Given the description of an element on the screen output the (x, y) to click on. 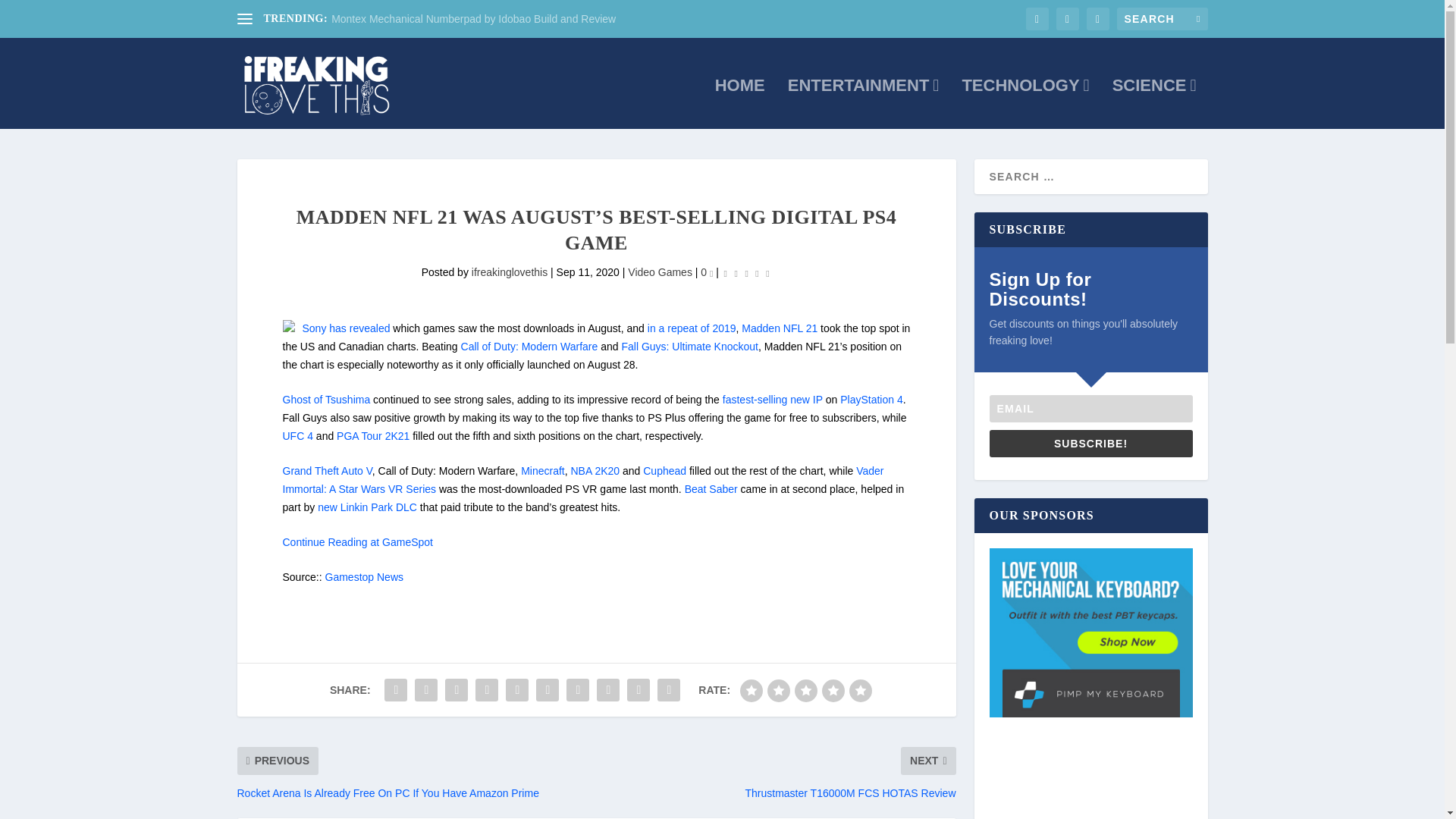
HOME (739, 103)
Search for: (1161, 18)
Montex Mechanical Numberpad by Idobao Build and Review (473, 19)
TECHNOLOGY (1024, 103)
ENTERTAINMENT (863, 103)
